Given the description of an element on the screen output the (x, y) to click on. 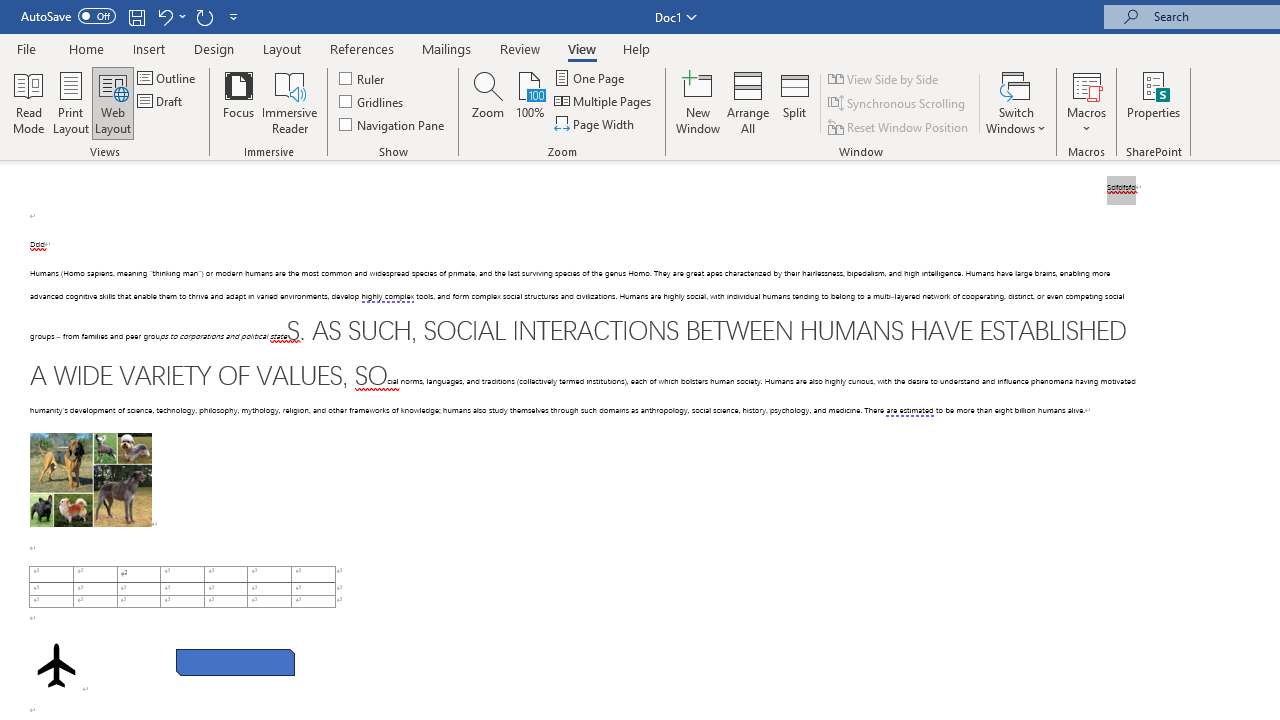
New Window (698, 102)
Airplane with solid fill (56, 665)
Morphological variation in six dogs (90, 479)
View Macros (1086, 84)
